Given the description of an element on the screen output the (x, y) to click on. 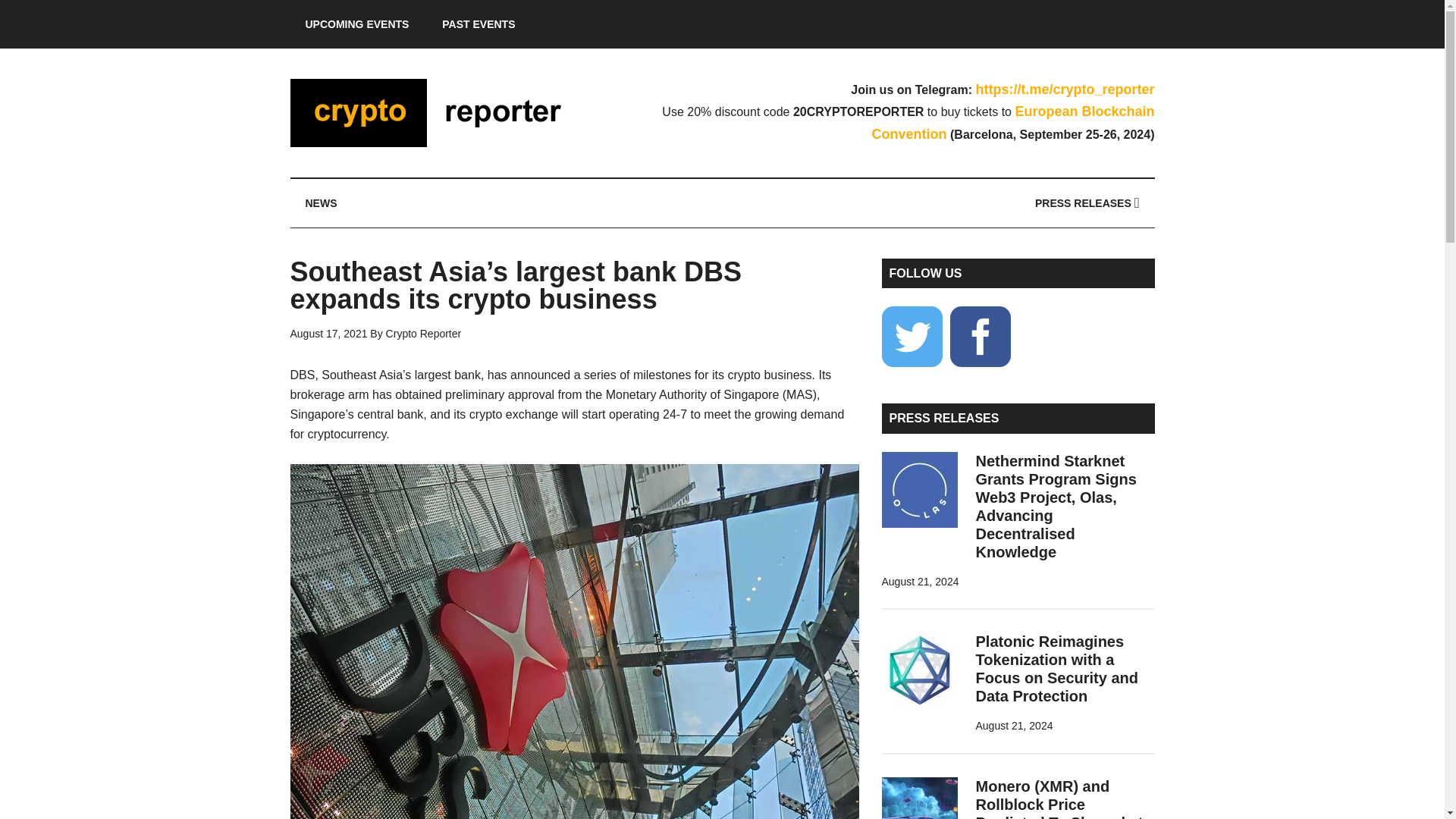
NEWS (320, 203)
European Blockchain Convention (1013, 122)
UPCOMING EVENTS (356, 24)
Crypto Reporter (433, 112)
PAST EVENTS (477, 24)
